Given the description of an element on the screen output the (x, y) to click on. 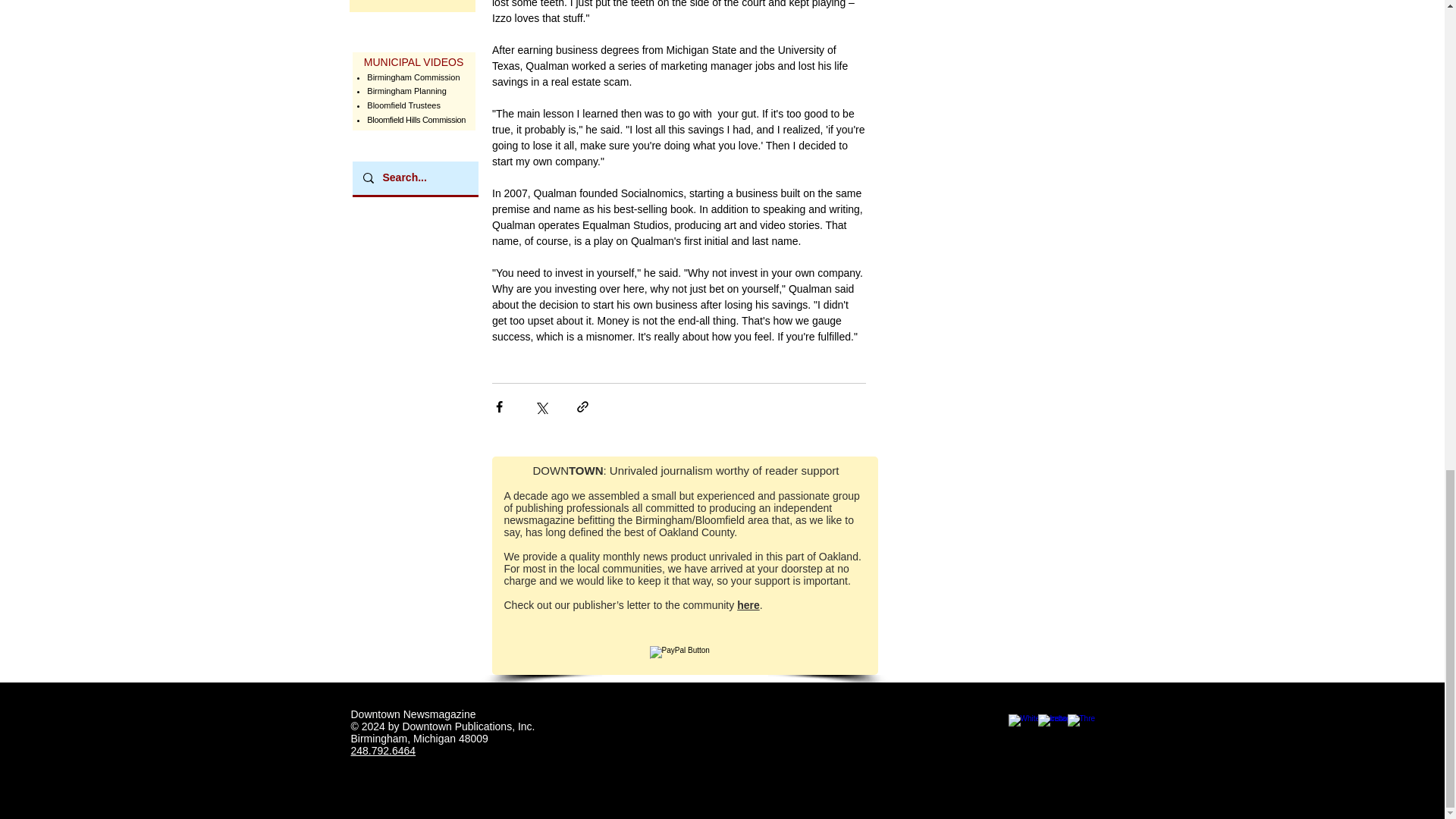
here (748, 604)
